Given the description of an element on the screen output the (x, y) to click on. 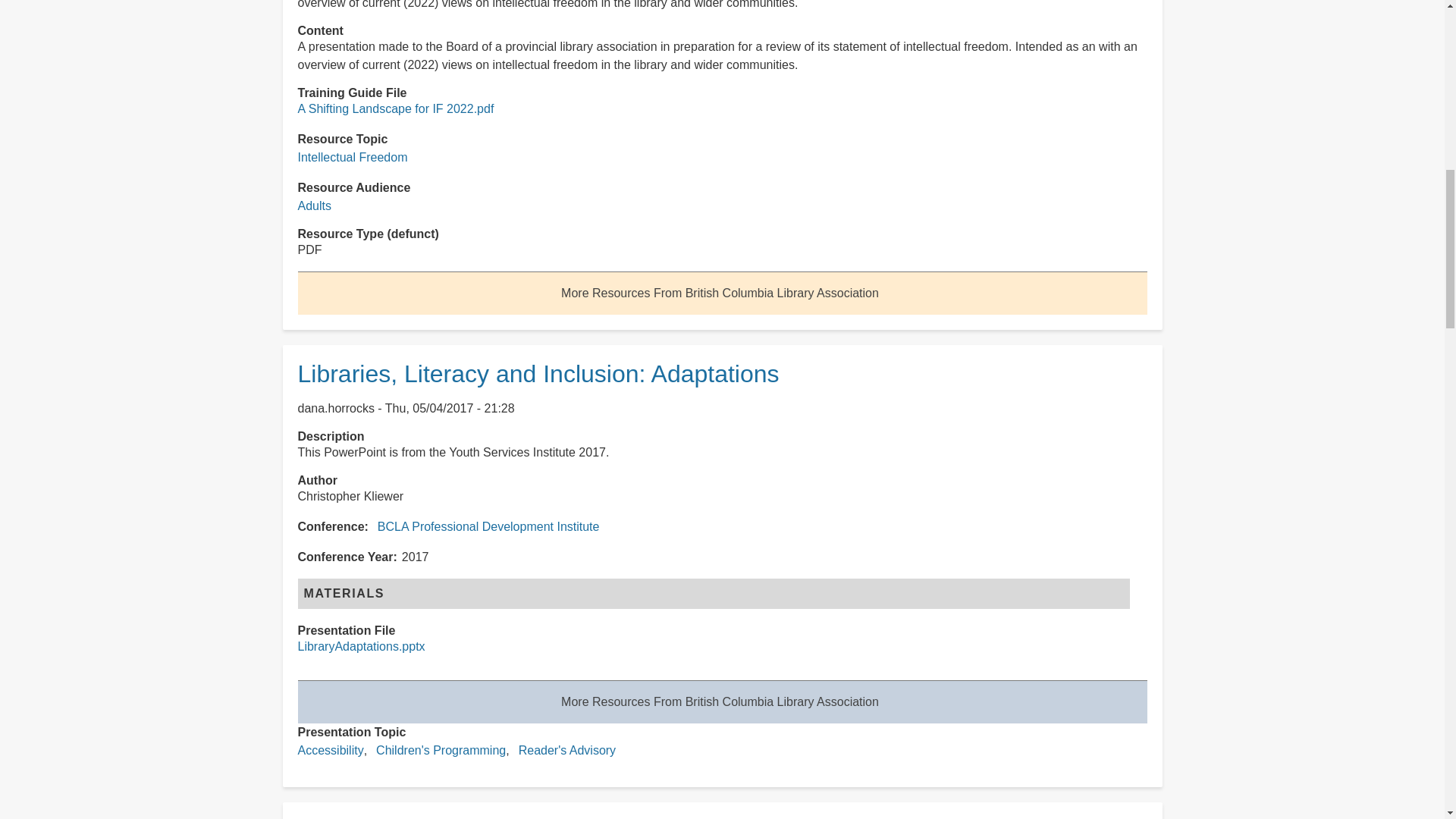
Intellectual Freedom (352, 156)
Reader's Advisory (566, 749)
Thursday, May 4, 2017 - 21:28 (450, 408)
Libraries, Literacy and Inclusion: Adaptations (537, 373)
A Shifting Landscape for IF 2022.pdf (395, 108)
Children's Programming (440, 749)
British Columbia Library Association (719, 292)
Adults (313, 205)
Accessibility (329, 749)
BCLA Professional Development Institute (488, 526)
LibraryAdaptations.pptx (361, 645)
British Columbia Library Association (719, 701)
